Given the description of an element on the screen output the (x, y) to click on. 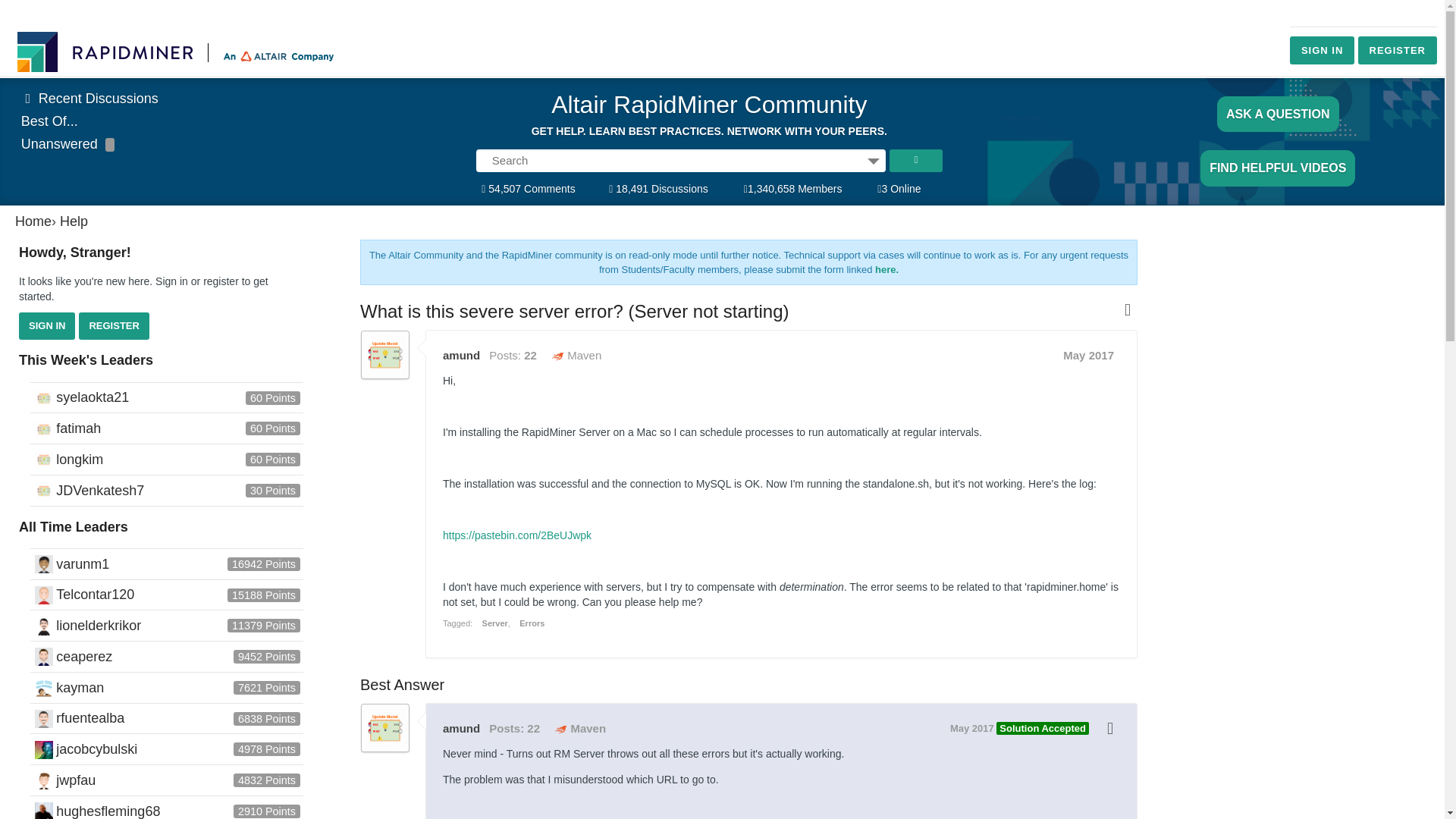
Solution Accepted (1042, 727)
REGISTER (1397, 50)
Altair RapidMiner Community (708, 109)
Recent Discussions (89, 98)
FIND HELPFUL VIDEOS (1277, 167)
Best Of... (49, 120)
May 24, 2017 1:48AM (1087, 354)
Help (73, 221)
ASK A QUESTION (1278, 113)
Maven (579, 727)
